Given the description of an element on the screen output the (x, y) to click on. 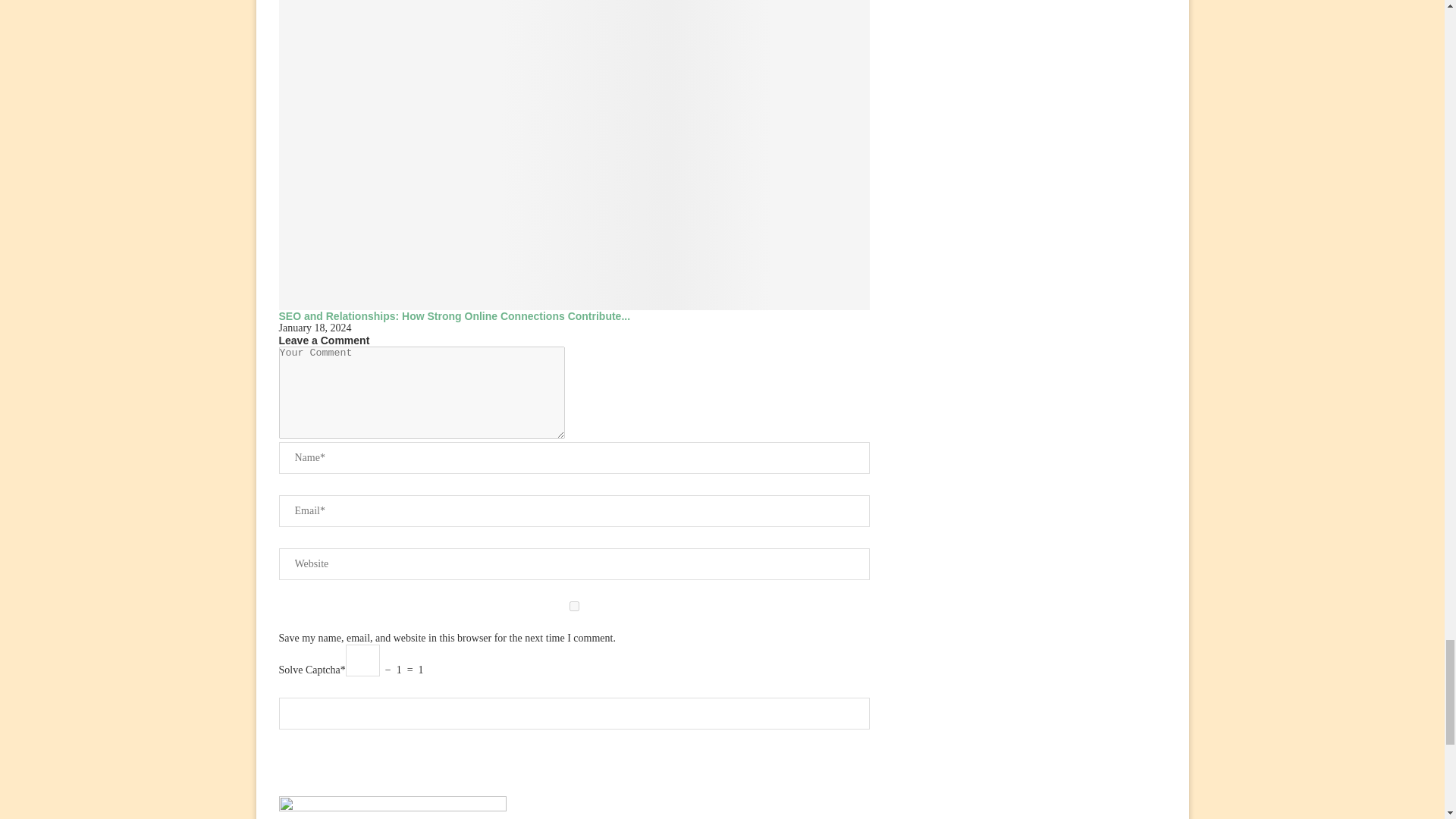
Submit (574, 713)
yes (574, 605)
